Given the description of an element on the screen output the (x, y) to click on. 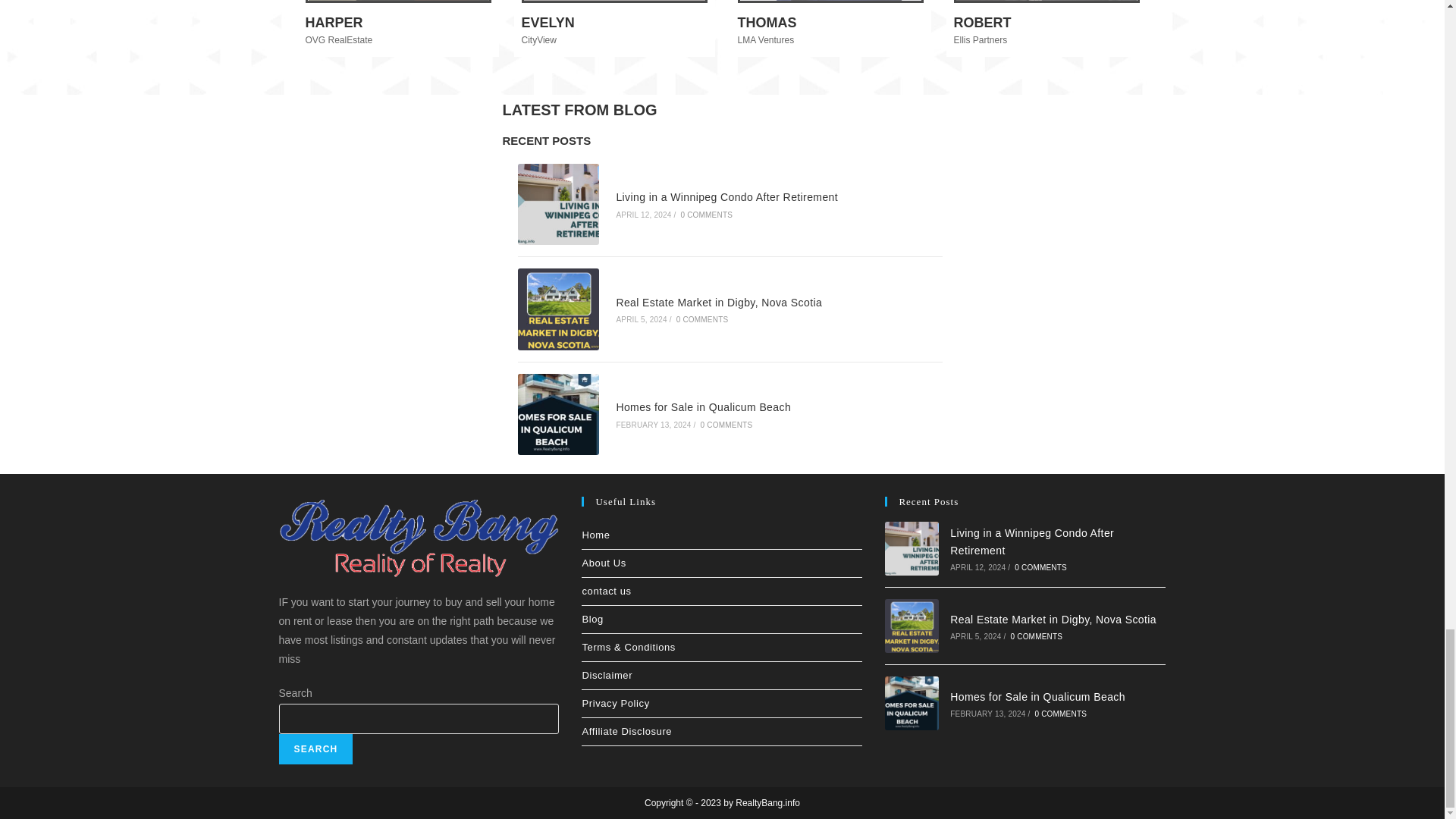
Homes for Sale in Qualicum Beach (912, 703)
Real Estate Market in Digby, Nova Scotia (557, 309)
Living in a Winnipeg Condo After Retirement (912, 548)
Homes for Sale in Qualicum Beach (557, 414)
Real Estate Market in Digby, Nova Scotia (912, 625)
Living in a Winnipeg Condo After Retirement (557, 204)
